Given the description of an element on the screen output the (x, y) to click on. 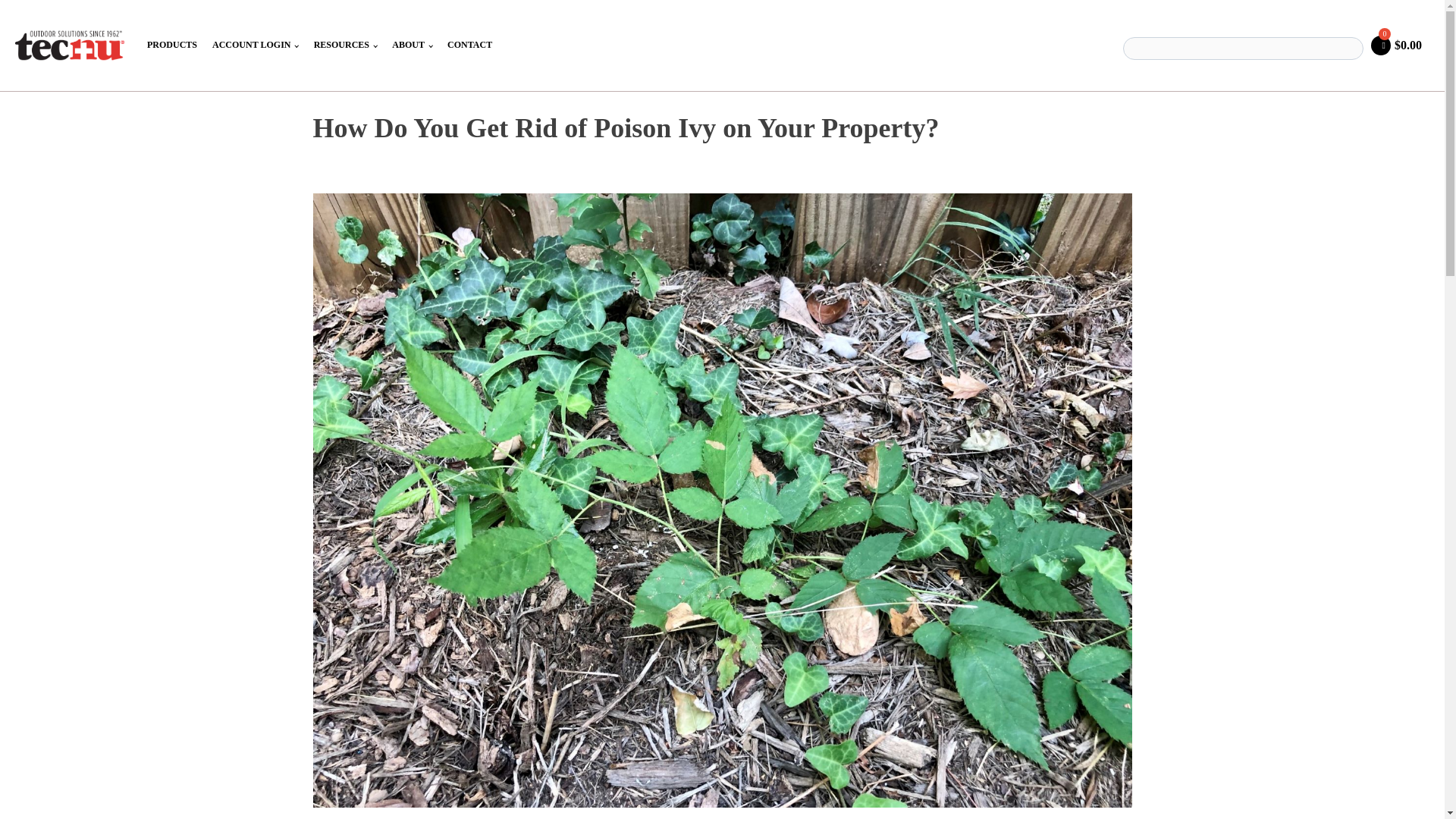
ABOUT (411, 45)
CONTACT (469, 45)
PRODUCTS (172, 45)
RESOURCES (345, 45)
ACCOUNT LOGIN (255, 45)
